Given the description of an element on the screen output the (x, y) to click on. 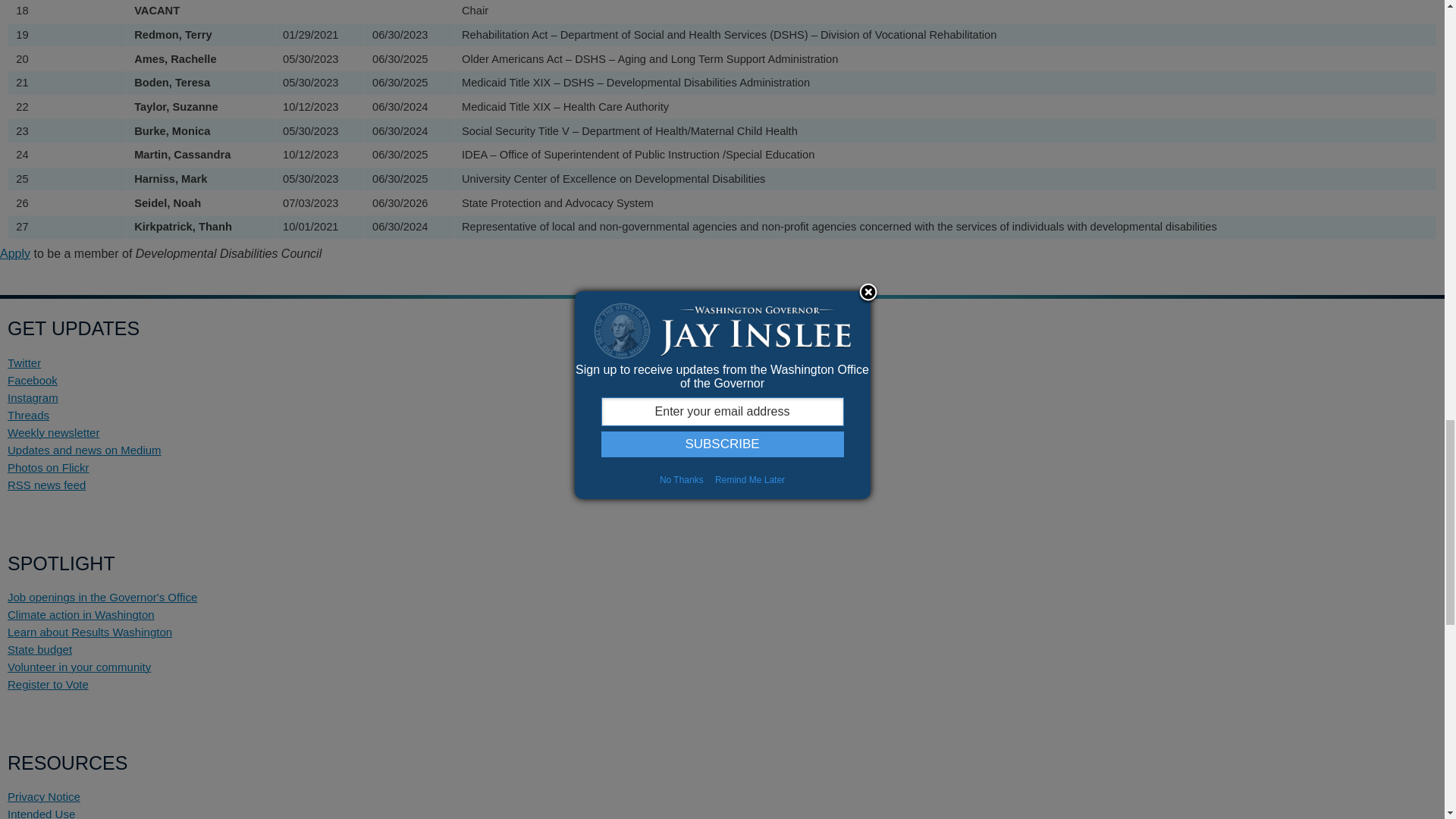
Privacy notice (43, 796)
Sign Up for RSS Feed (46, 484)
Intended use (41, 813)
